Given the description of an element on the screen output the (x, y) to click on. 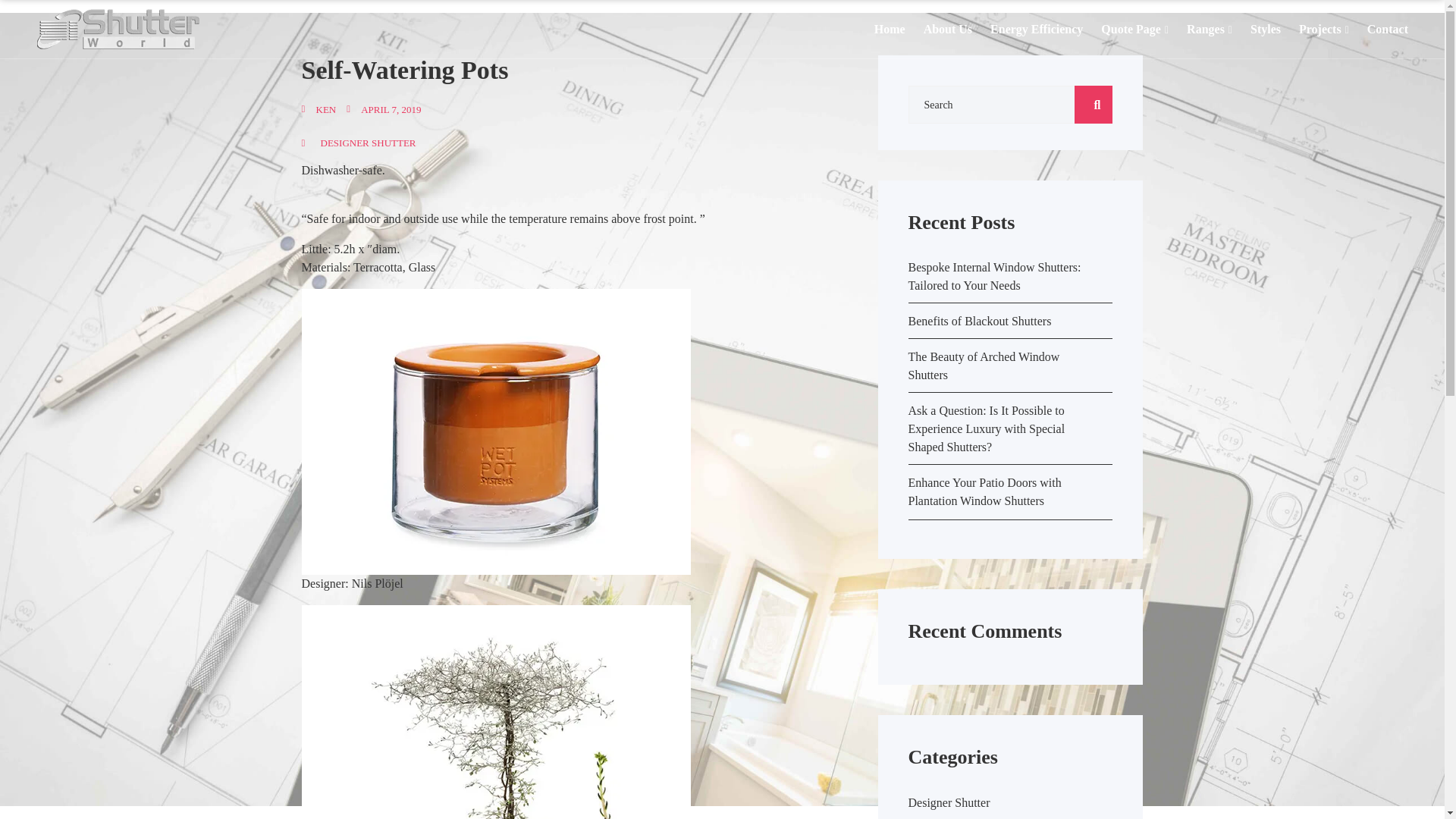
Basswood Range (1271, 162)
Ashwood Range (1271, 218)
Antigua Ranges (1271, 53)
Hybrawood Range (1271, 189)
Quote Page (1134, 28)
Omega Range (1271, 81)
Brochure Request (1185, 133)
Styles (1265, 28)
Brochure Request (1185, 81)
Posts by Ken (318, 109)
Omega Range (1271, 133)
Home (890, 28)
Quote Page (1185, 53)
Projects (1323, 28)
Hybrawood Range (1271, 137)
